Given the description of an element on the screen output the (x, y) to click on. 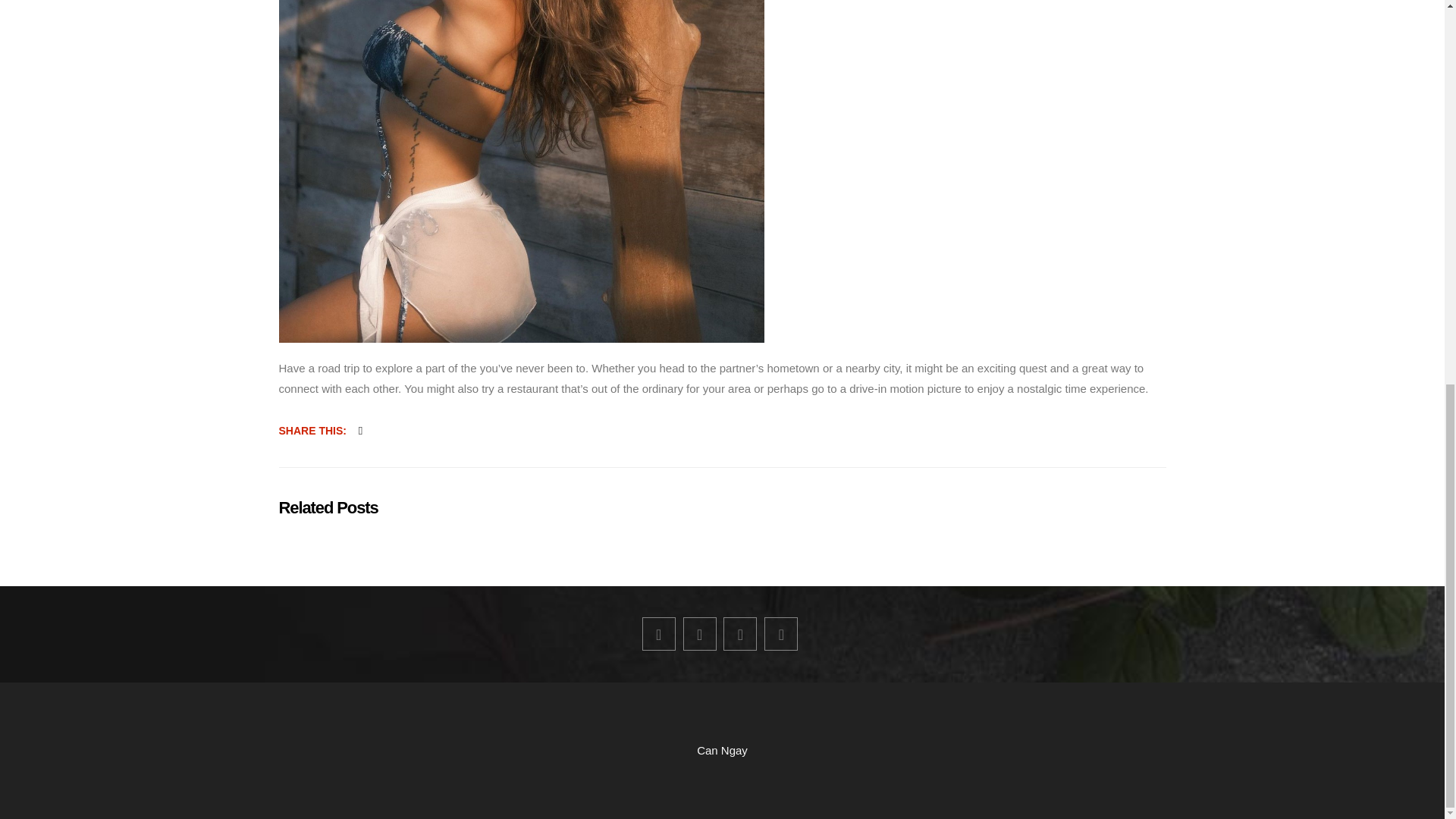
Instagram (780, 633)
Pinterest (740, 633)
Twitter (699, 633)
Facebook (658, 633)
Can Ngay (722, 749)
